Given the description of an element on the screen output the (x, y) to click on. 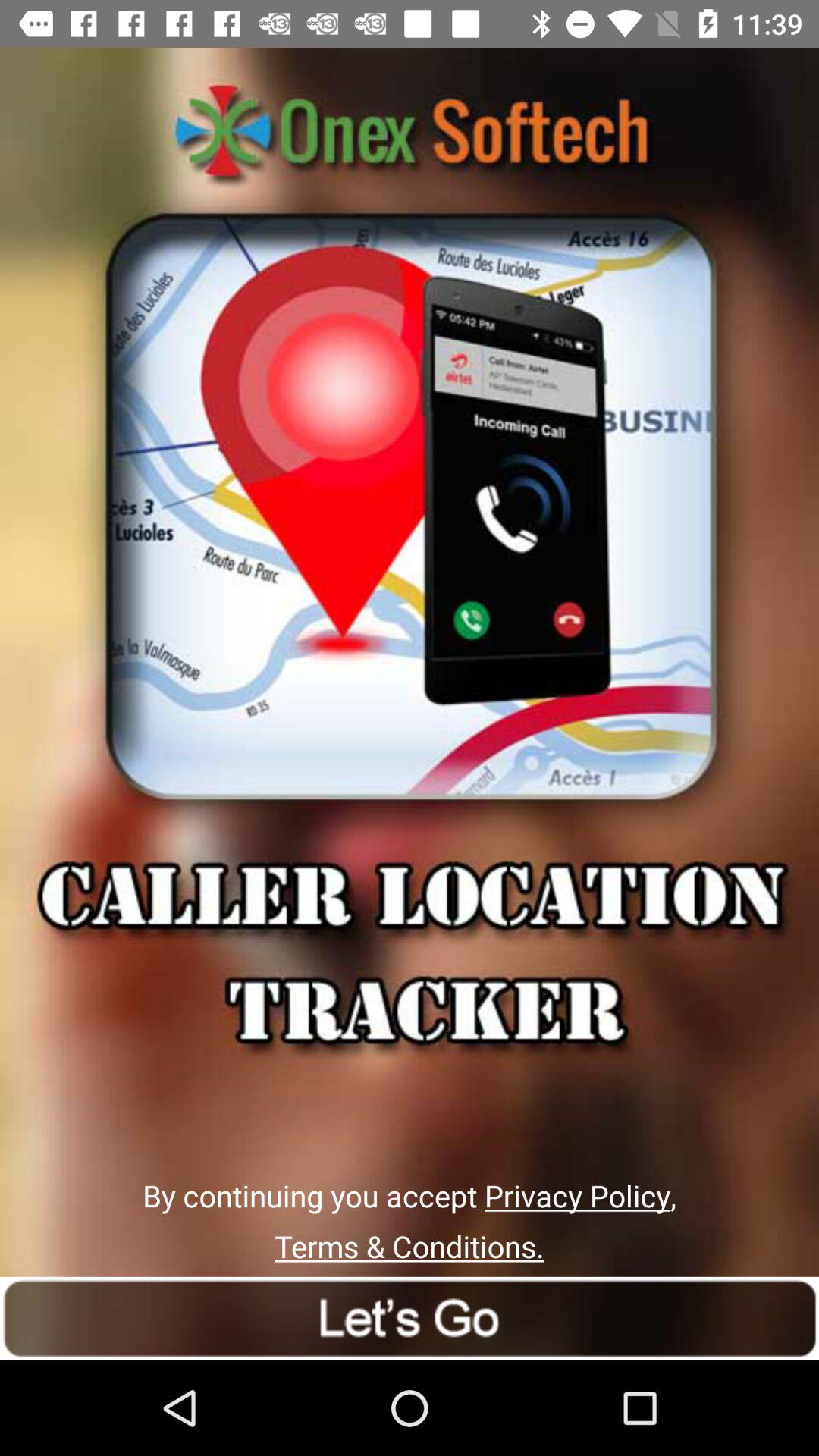
go to next (409, 1318)
